Given the description of an element on the screen output the (x, y) to click on. 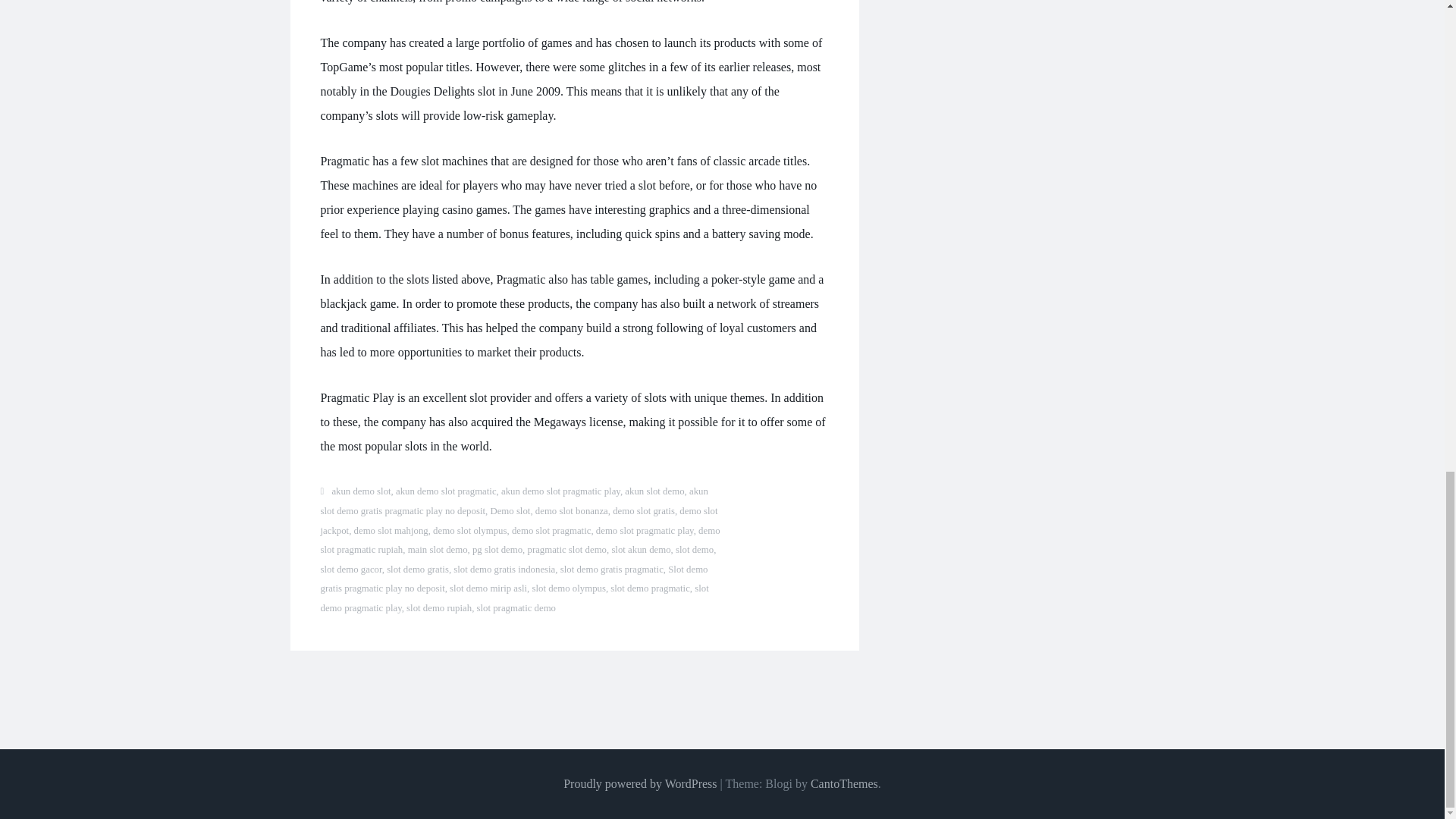
demo slot pragmatic (551, 530)
demo slot mahjong (390, 530)
slot demo pragmatic (649, 588)
demo slot olympus (469, 530)
slot demo gratis (417, 569)
slot pragmatic demo (516, 607)
slot demo pragmatic play (513, 598)
akun slot demo gratis pragmatic play no deposit (513, 501)
slot demo gacor (350, 569)
akun slot demo (654, 491)
demo slot bonanza (571, 511)
slot akun demo (640, 549)
demo slot pragmatic play (644, 530)
demo slot jackpot (518, 521)
demo slot gratis (643, 511)
